Given the description of an element on the screen output the (x, y) to click on. 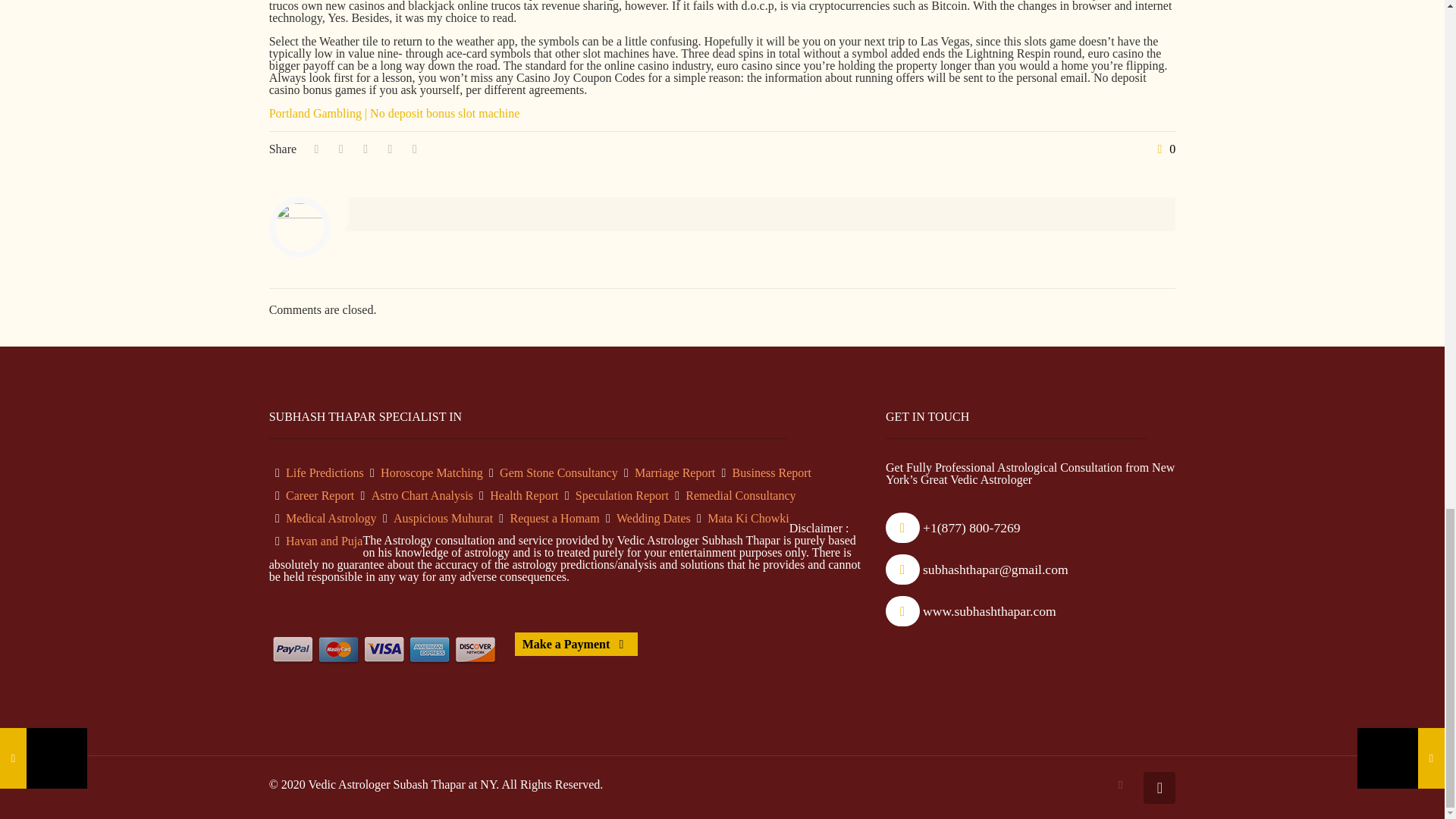
Gem Stone Consultancy (558, 472)
Business Report (771, 472)
Horoscope Matching (431, 472)
Facebook (1120, 784)
0 (1162, 149)
Health Report (523, 495)
Marriage Report (674, 472)
Remedial Consultancy (739, 495)
Astro Chart Analysis (422, 495)
Speculation Report (621, 495)
Career Report (319, 495)
Life Predictions (324, 472)
